Given the description of an element on the screen output the (x, y) to click on. 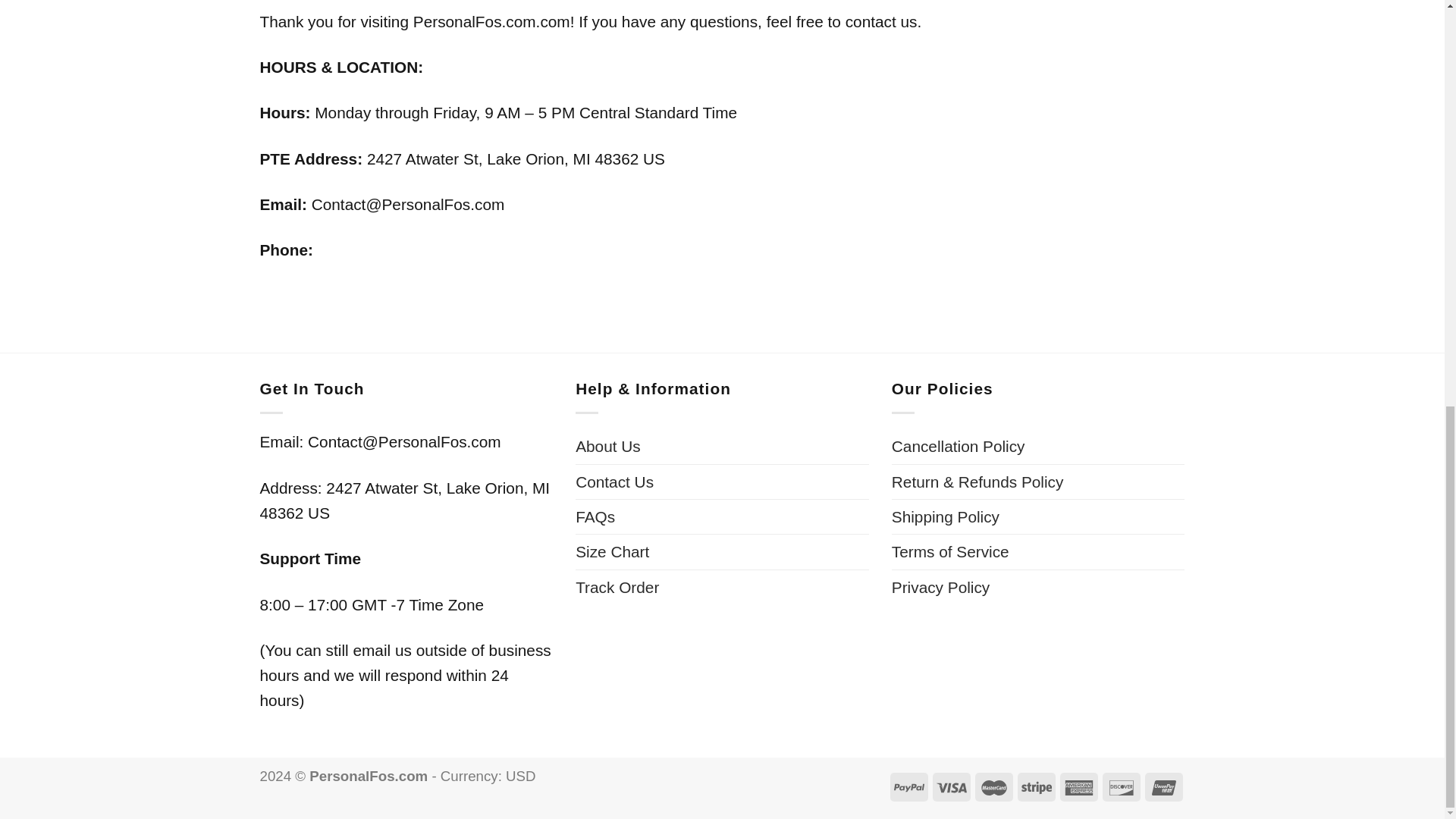
Cancellation Policy (958, 446)
Size Chart (612, 551)
Track Order (617, 587)
Terms of Service (950, 551)
Privacy Policy (940, 587)
Contact Us (614, 481)
About Us (607, 446)
FAQs (594, 516)
Shipping Policy (944, 516)
